Given the description of an element on the screen output the (x, y) to click on. 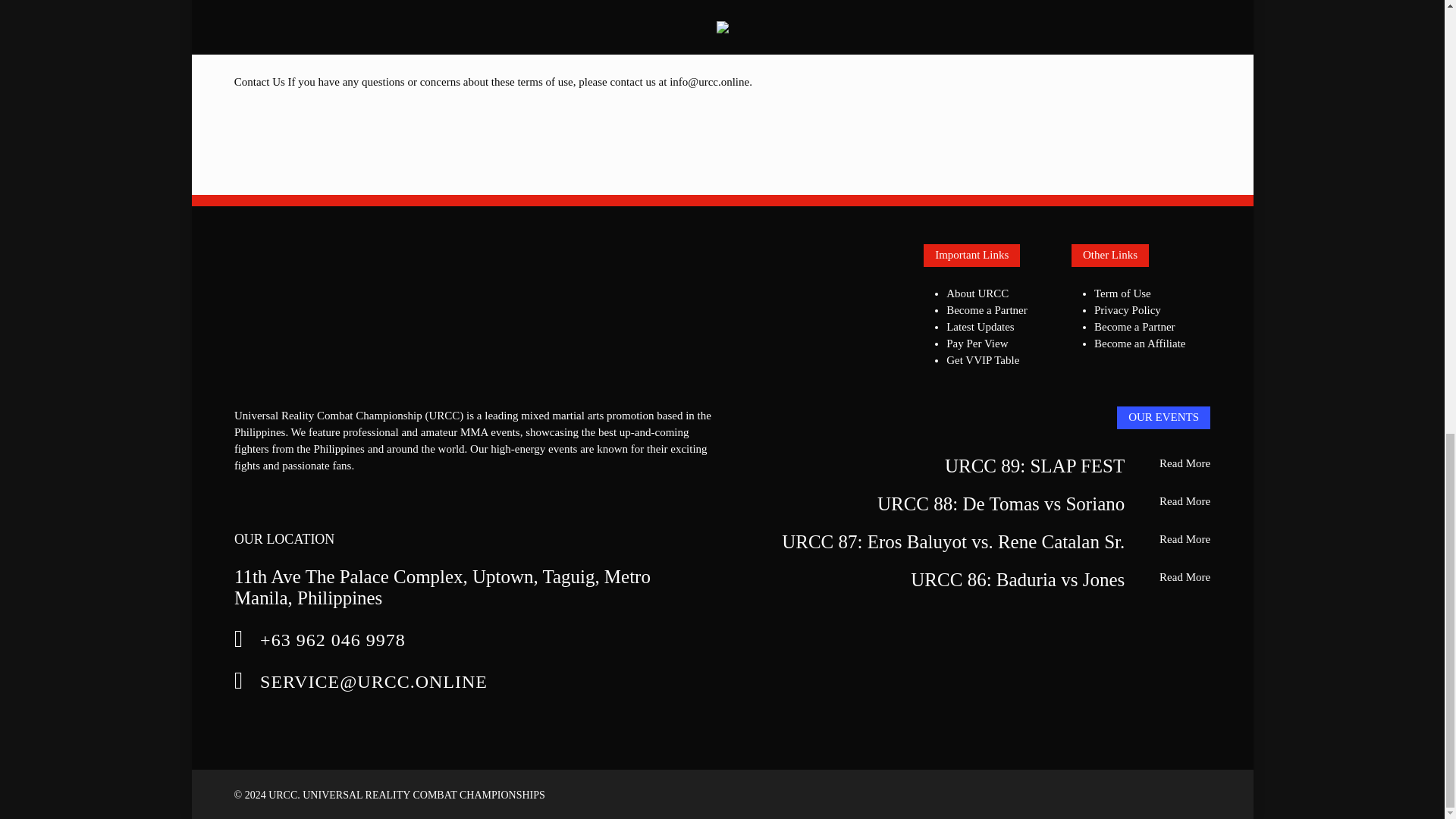
Privacy Policy (1127, 309)
URCC 86: Baduria vs Jones (1017, 579)
Get VVIP Table (982, 359)
URCC 87: Eros Baluyot vs. Rene Catalan Sr. (952, 541)
Read More (1183, 462)
Become a Partner (1134, 326)
Latest Updates (980, 326)
About URCC (977, 293)
URCC 88: De Tomas vs Soriano (1000, 503)
